Given the description of an element on the screen output the (x, y) to click on. 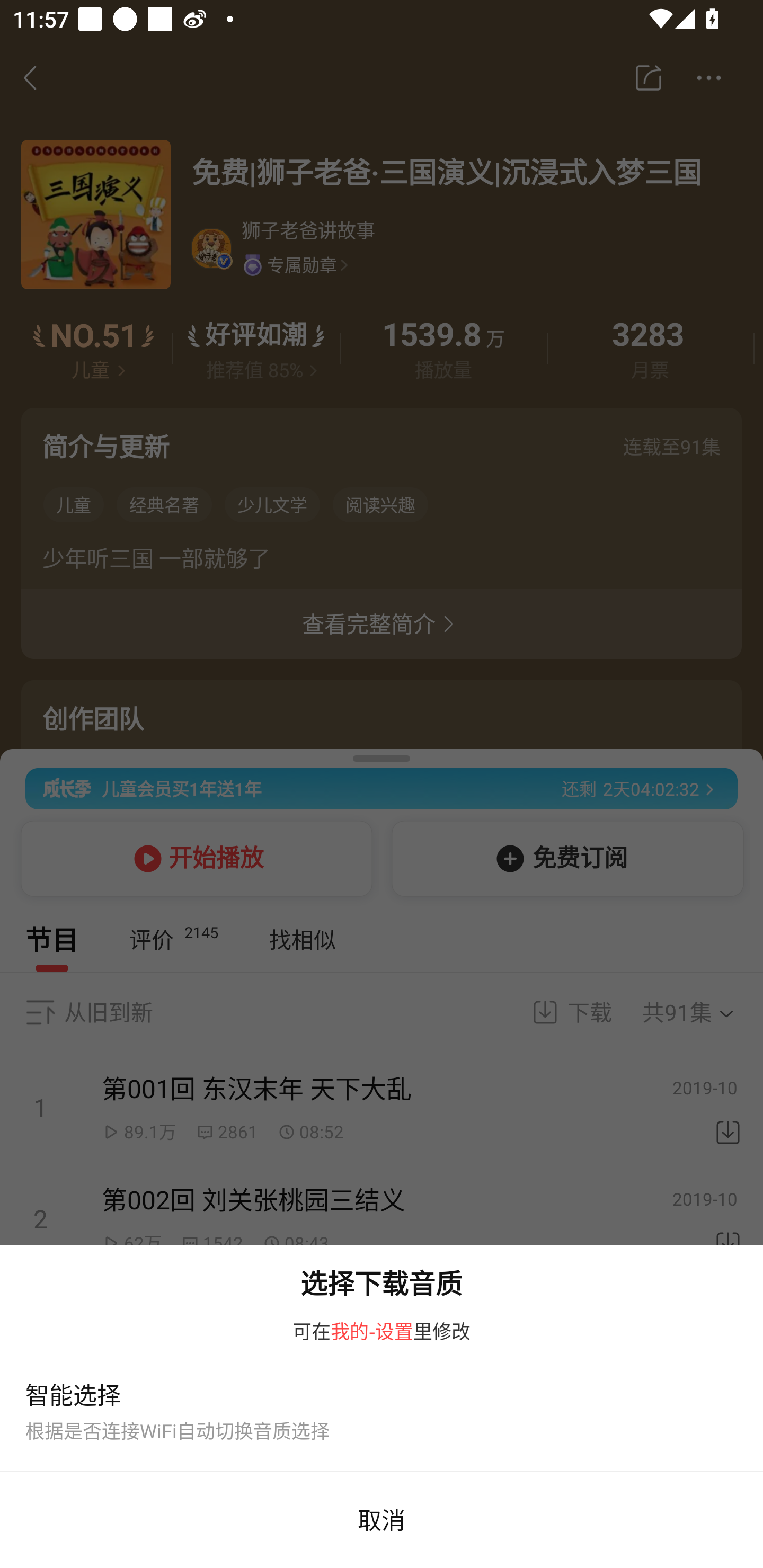
可在我的-设置里修改 (381, 1336)
智能选择 根据是否连接WiFi自动切换音质选择 (381, 1414)
取消 (381, 1520)
